Given the description of an element on the screen output the (x, y) to click on. 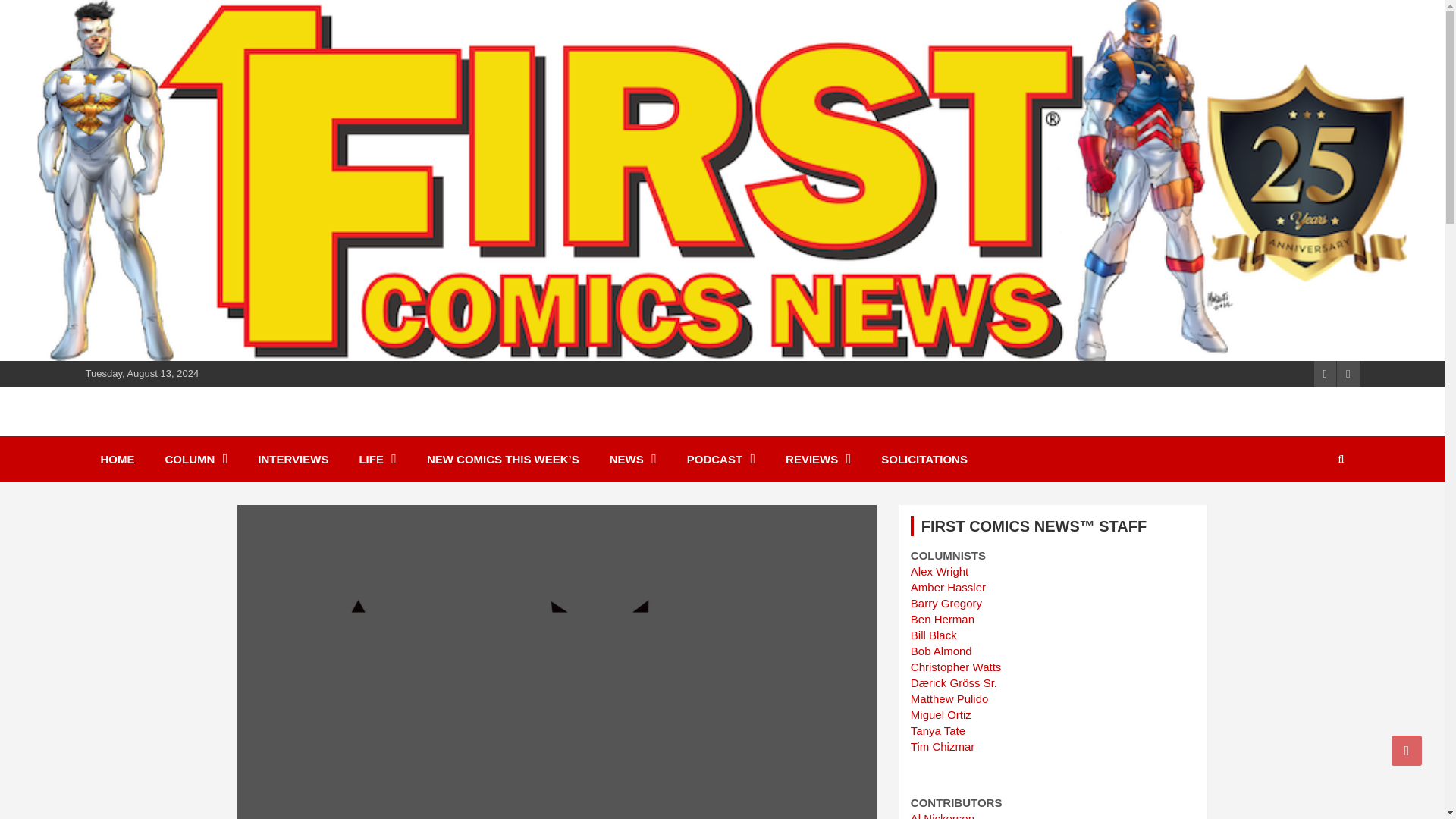
HOME (116, 458)
PODCAST (720, 458)
COLUMN (196, 458)
LIFE (377, 458)
First Comics News (220, 428)
Go to Top (1406, 750)
NEWS (632, 458)
INTERVIEWS (293, 458)
REVIEWS (818, 458)
